Given the description of an element on the screen output the (x, y) to click on. 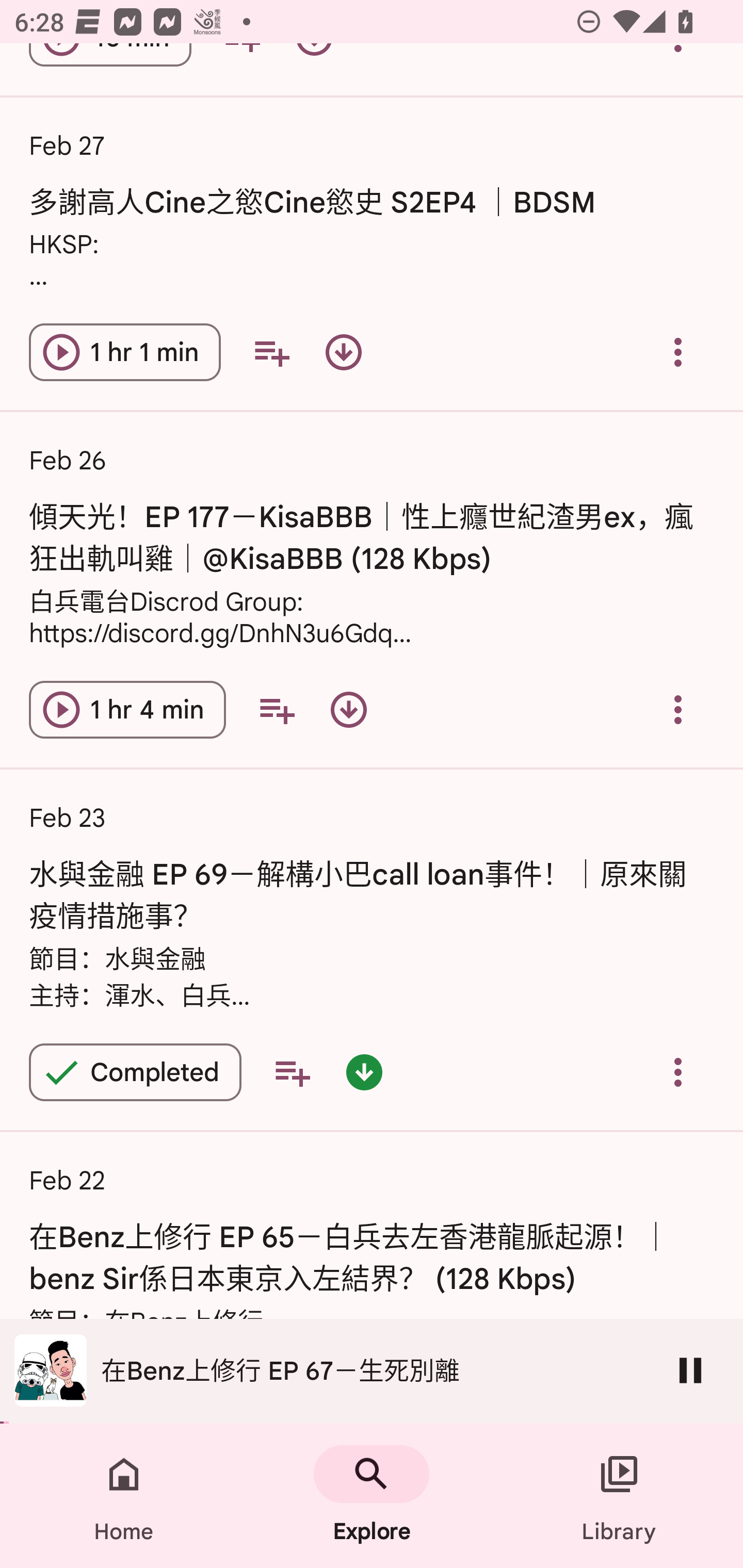
Add to your queue (271, 351)
Download episode (343, 351)
Overflow menu (677, 351)
Add to your queue (276, 709)
Download episode (348, 709)
Overflow menu (677, 709)
Add to your queue (291, 1072)
Episode downloaded - double tap for options (364, 1072)
Overflow menu (677, 1072)
白兵電台 在Benz上修行 EP 67－生死別離 Pause 42.0 (371, 1370)
Pause (690, 1370)
Home (123, 1495)
Library (619, 1495)
